Given the description of an element on the screen output the (x, y) to click on. 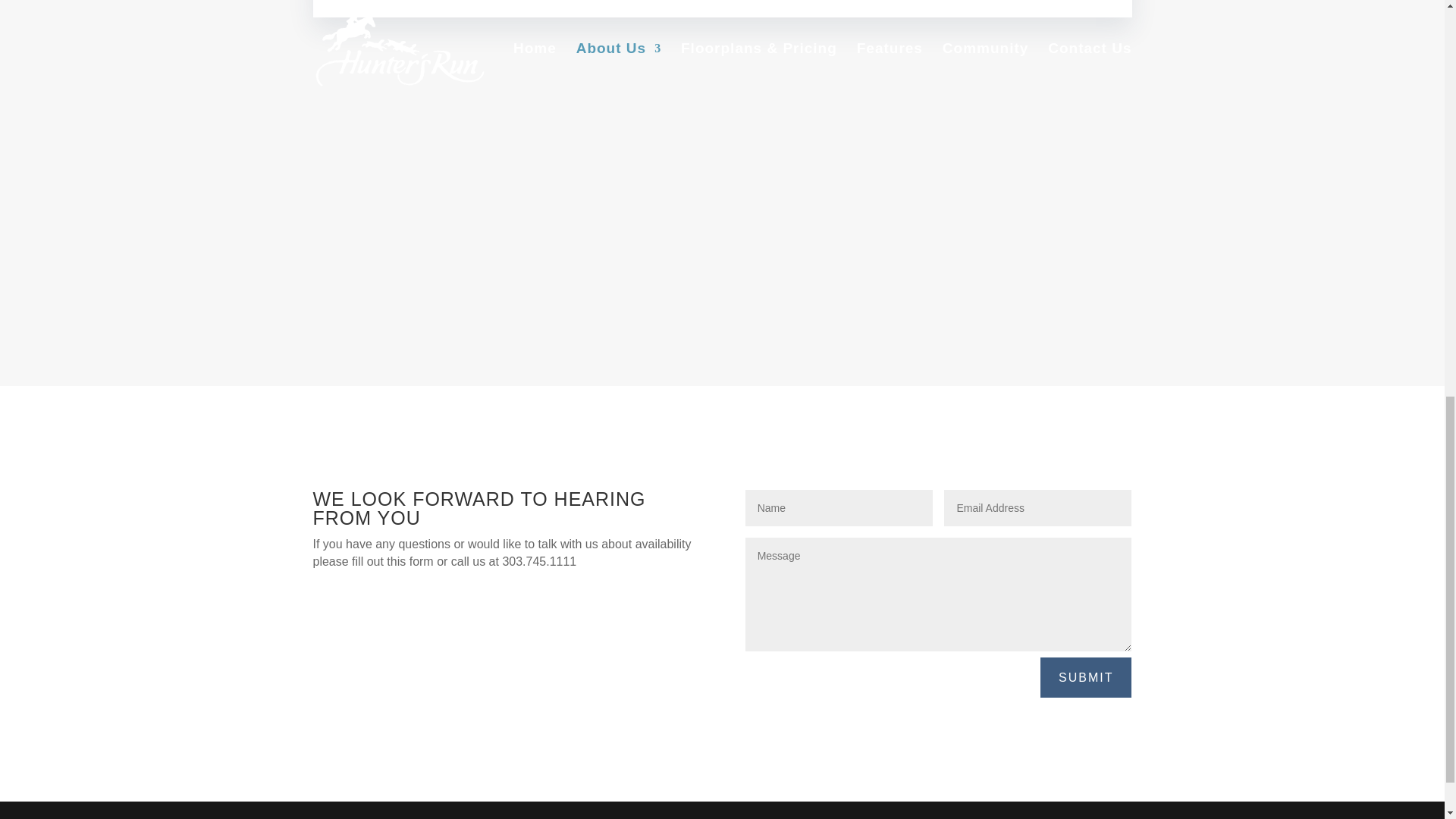
SUBMIT (1086, 677)
